Given the description of an element on the screen output the (x, y) to click on. 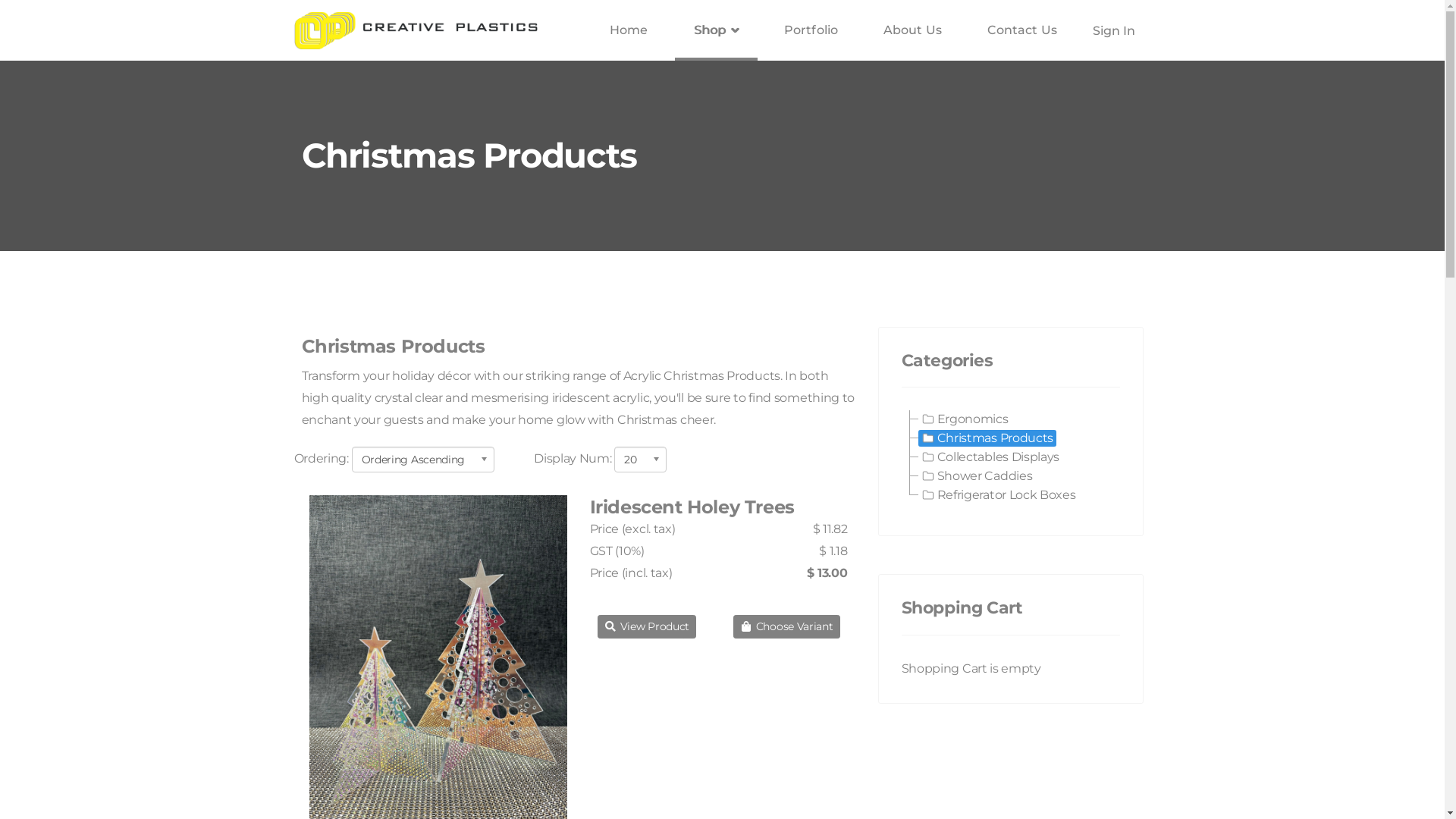
Creative Plastics Element type: hover (415, 30)
Portfolio Element type: text (810, 30)
Choose Variant Element type: text (785, 626)
Christmas Products Element type: text (986, 437)
Shop Element type: text (716, 30)
Ergonomics Element type: text (963, 419)
About Us Element type: text (912, 30)
Sign In Element type: text (1111, 30)
Shower Caddies Element type: text (976, 475)
20 Element type: text (639, 459)
Home Element type: text (628, 30)
Collectables Displays Element type: text (989, 456)
Ordering Ascending Element type: text (423, 459)
Refrigerator Lock Boxes Element type: text (997, 494)
Contact Us Element type: text (1022, 30)
View Product Element type: text (646, 626)
